Given the description of an element on the screen output the (x, y) to click on. 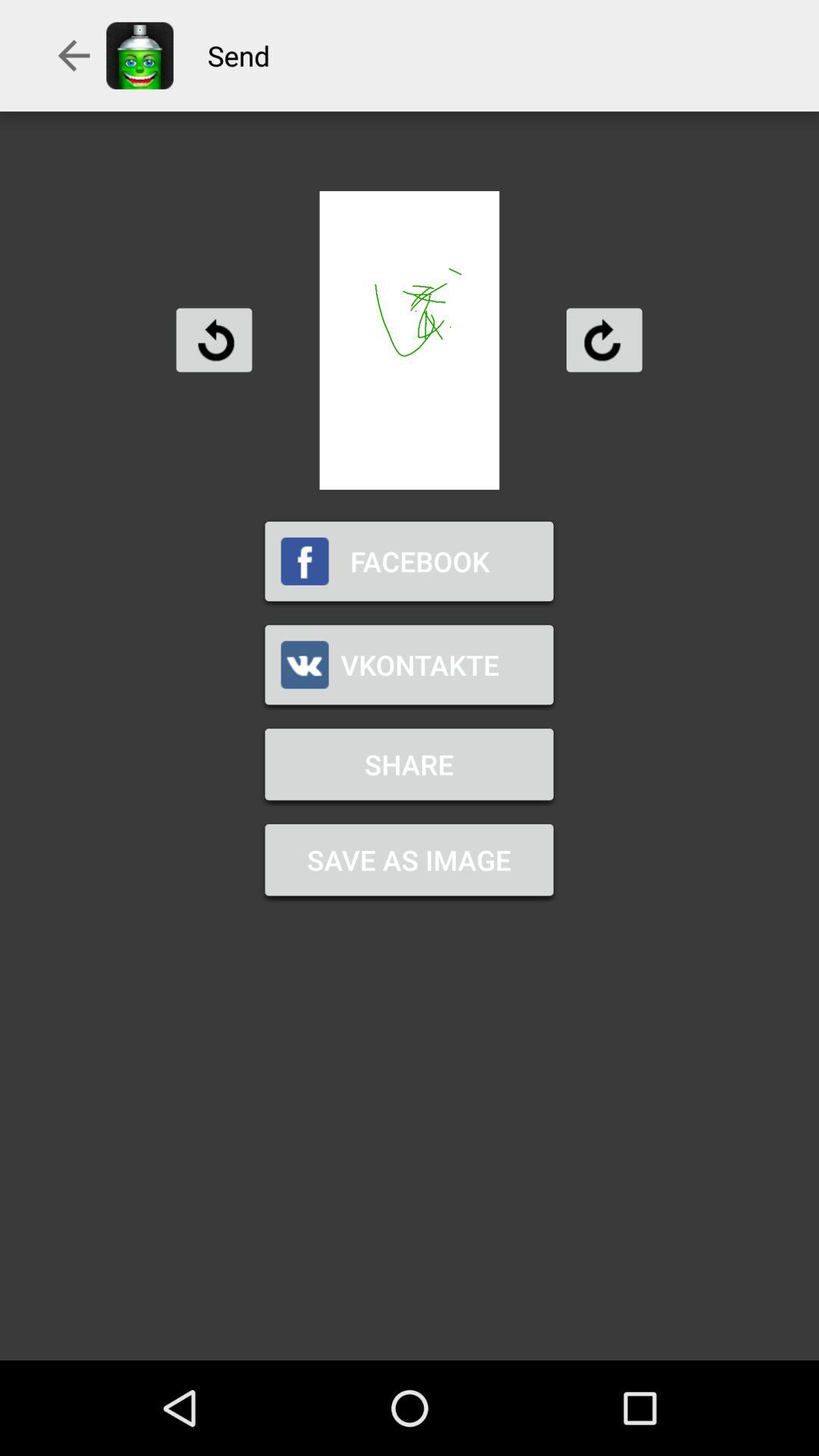
button to go forward for editing image (604, 339)
